Given the description of an element on the screen output the (x, y) to click on. 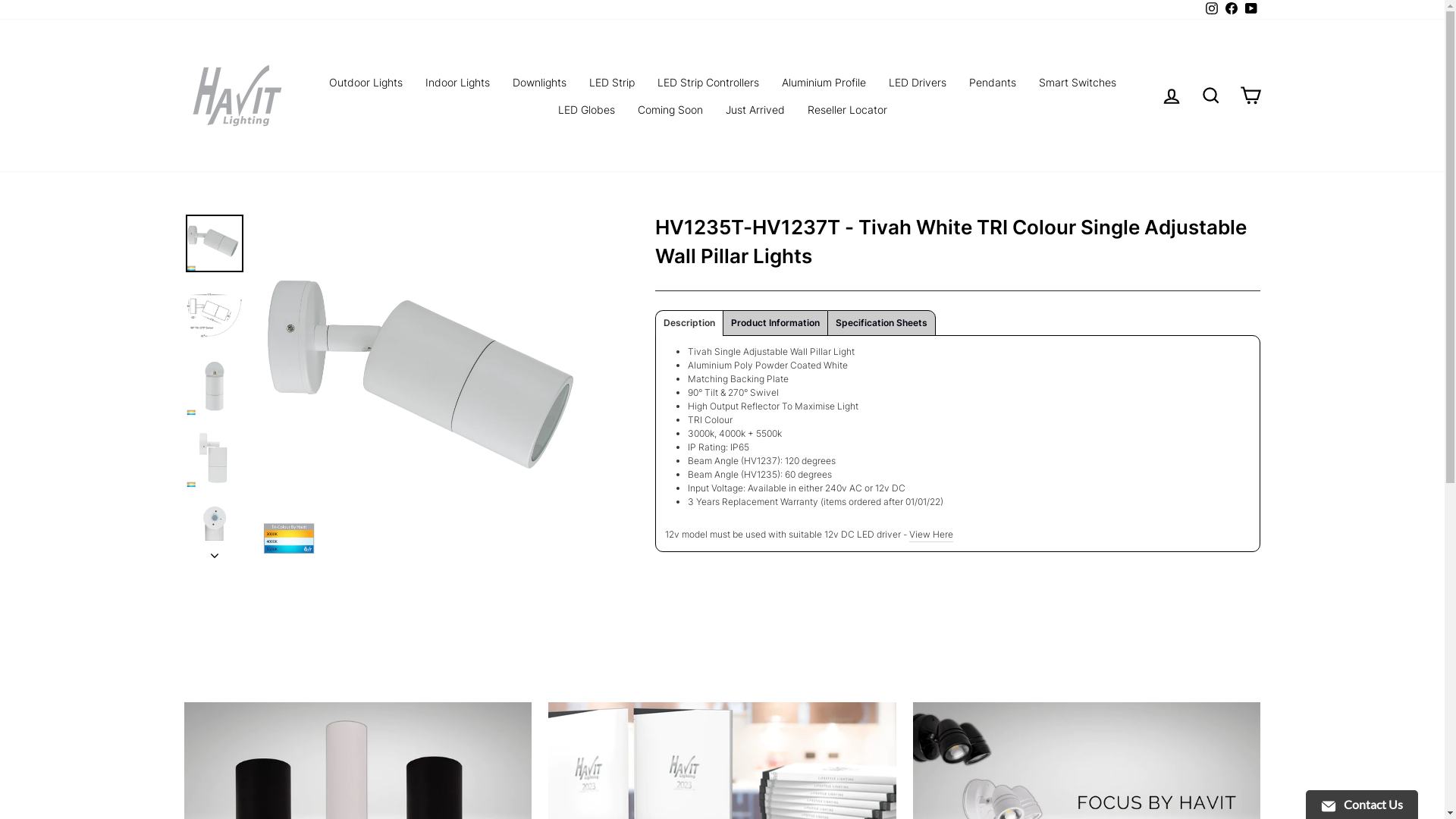
Reseller Locator Element type: text (847, 108)
LED Strip Element type: text (611, 81)
Purchase Order Element type: text (1249, 95)
View Here Element type: text (931, 534)
YouTube Element type: text (1250, 9)
Downlights Element type: text (538, 81)
Facebook Element type: text (1230, 9)
Just Arrived Element type: text (755, 108)
Pendants Element type: text (991, 81)
LED Strip Controllers Element type: text (708, 81)
Search Element type: text (1210, 95)
Outdoor Lights Element type: text (364, 81)
Indoor Lights Element type: text (457, 81)
Coming Soon Element type: text (670, 108)
LED Drivers Element type: text (916, 81)
Log in Element type: text (1170, 95)
Aluminium Profile Element type: text (823, 81)
Smart Switches Element type: text (1076, 81)
LED Globes Element type: text (585, 108)
Instagram Element type: text (1210, 9)
